Given the description of an element on the screen output the (x, y) to click on. 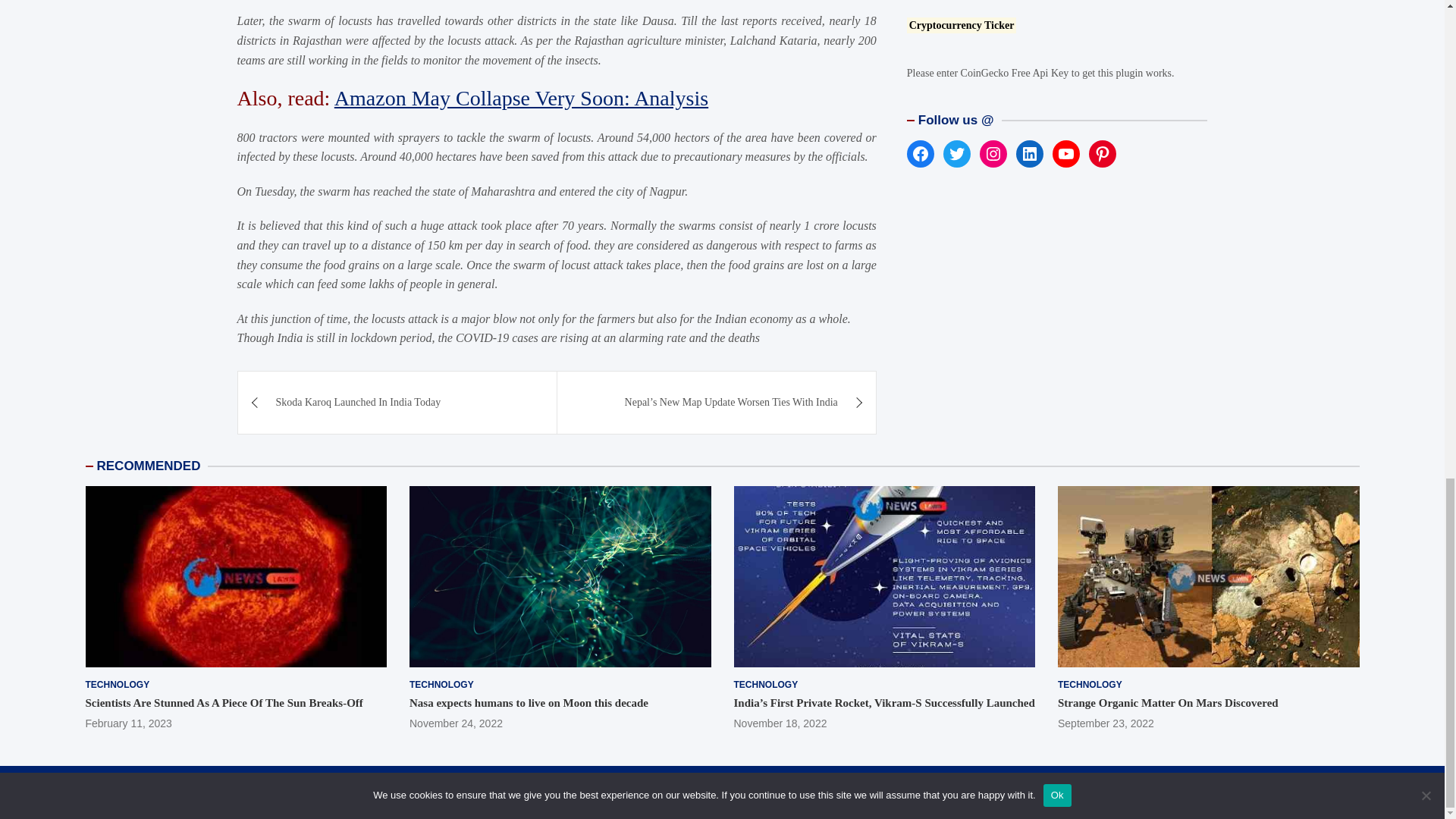
Skoda Karoq Launched In India Today (397, 402)
RECOMMENDED (148, 465)
Amazon May Collapse Very Soon: Analysis (520, 97)
TECHNOLOGY (116, 685)
